Given the description of an element on the screen output the (x, y) to click on. 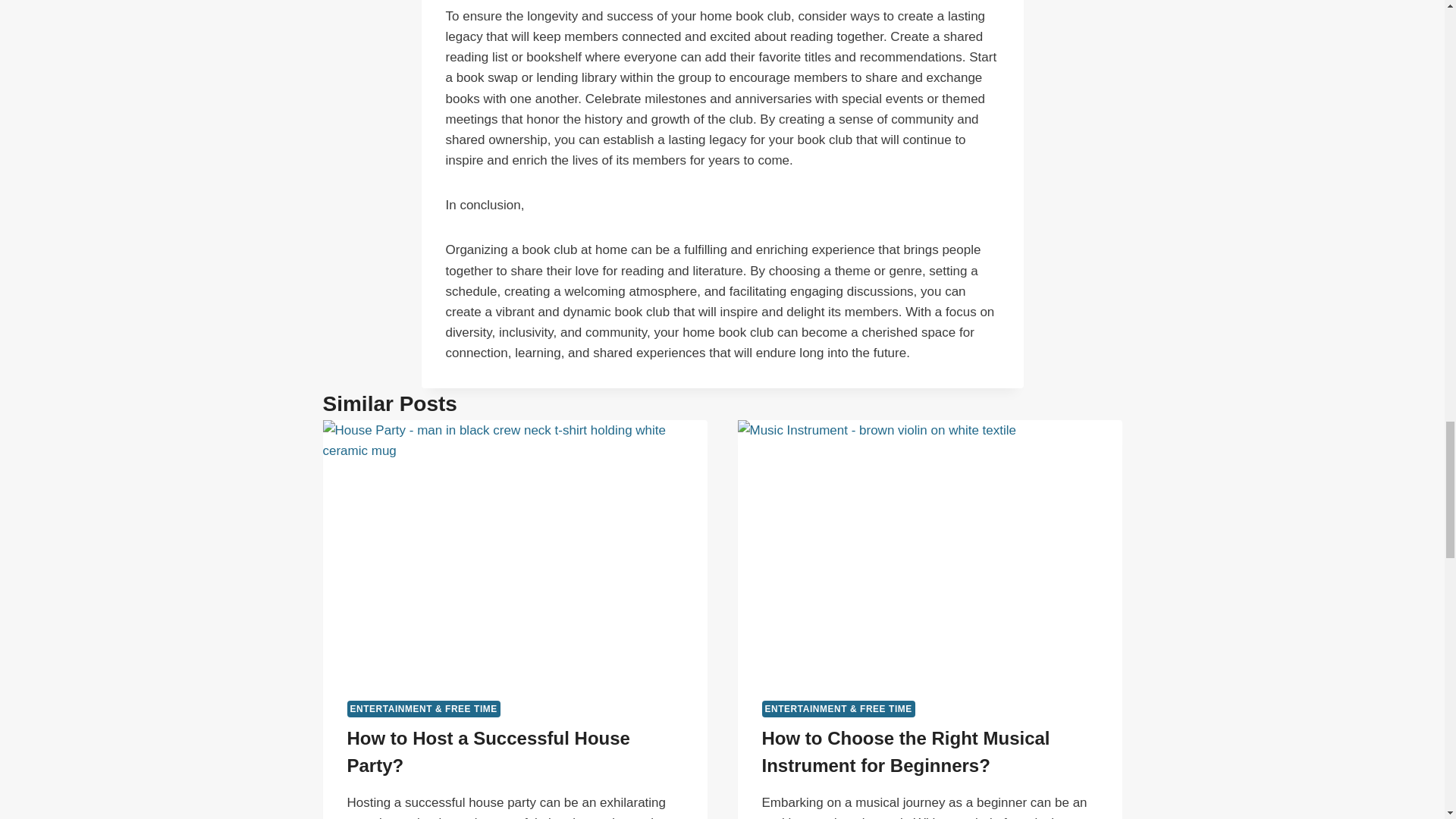
How to Choose the Right Musical Instrument for Beginners? (905, 751)
How to Host a Successful House Party? (488, 751)
